Given the description of an element on the screen output the (x, y) to click on. 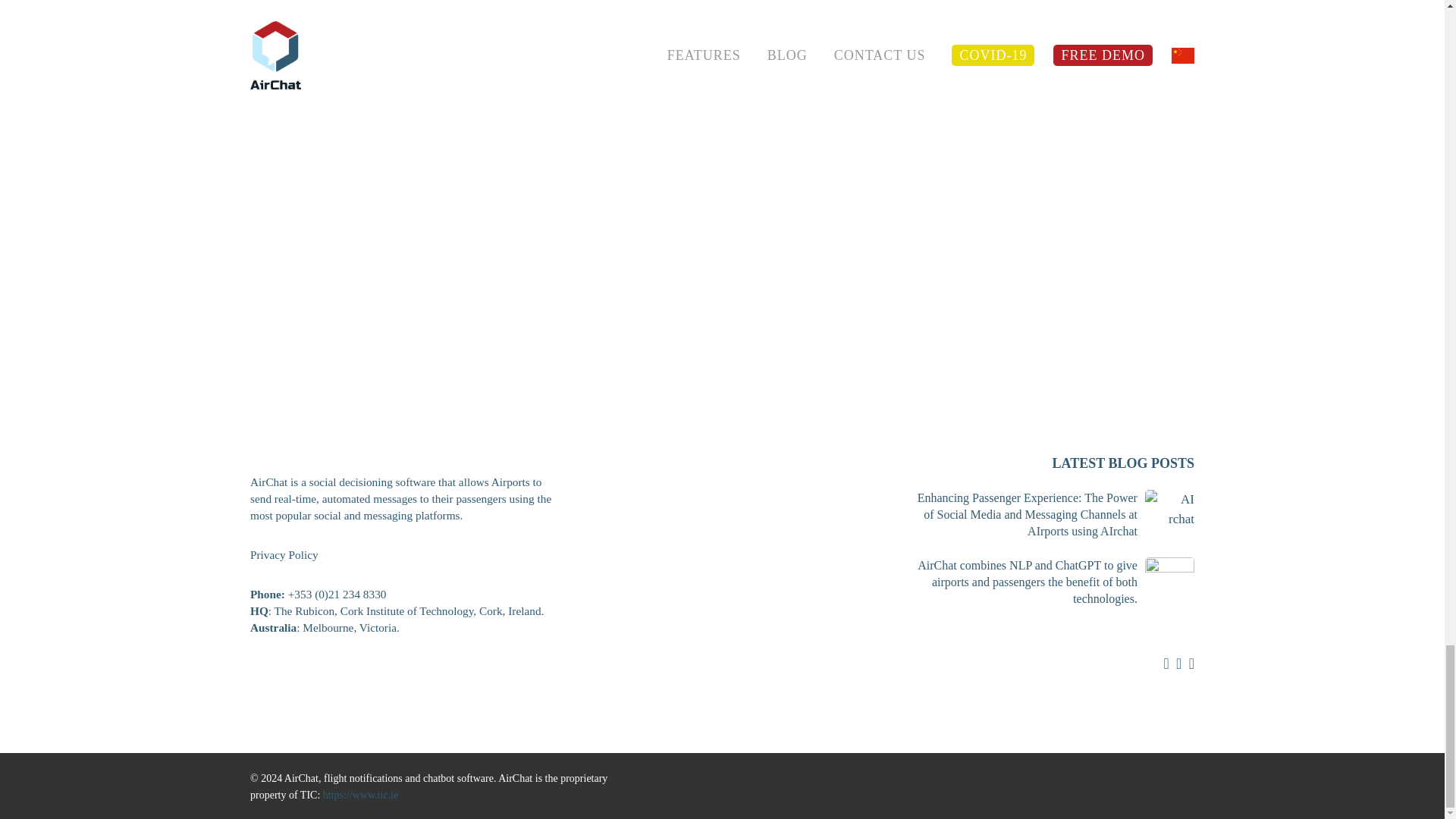
Privacy Policy (284, 554)
